Given the description of an element on the screen output the (x, y) to click on. 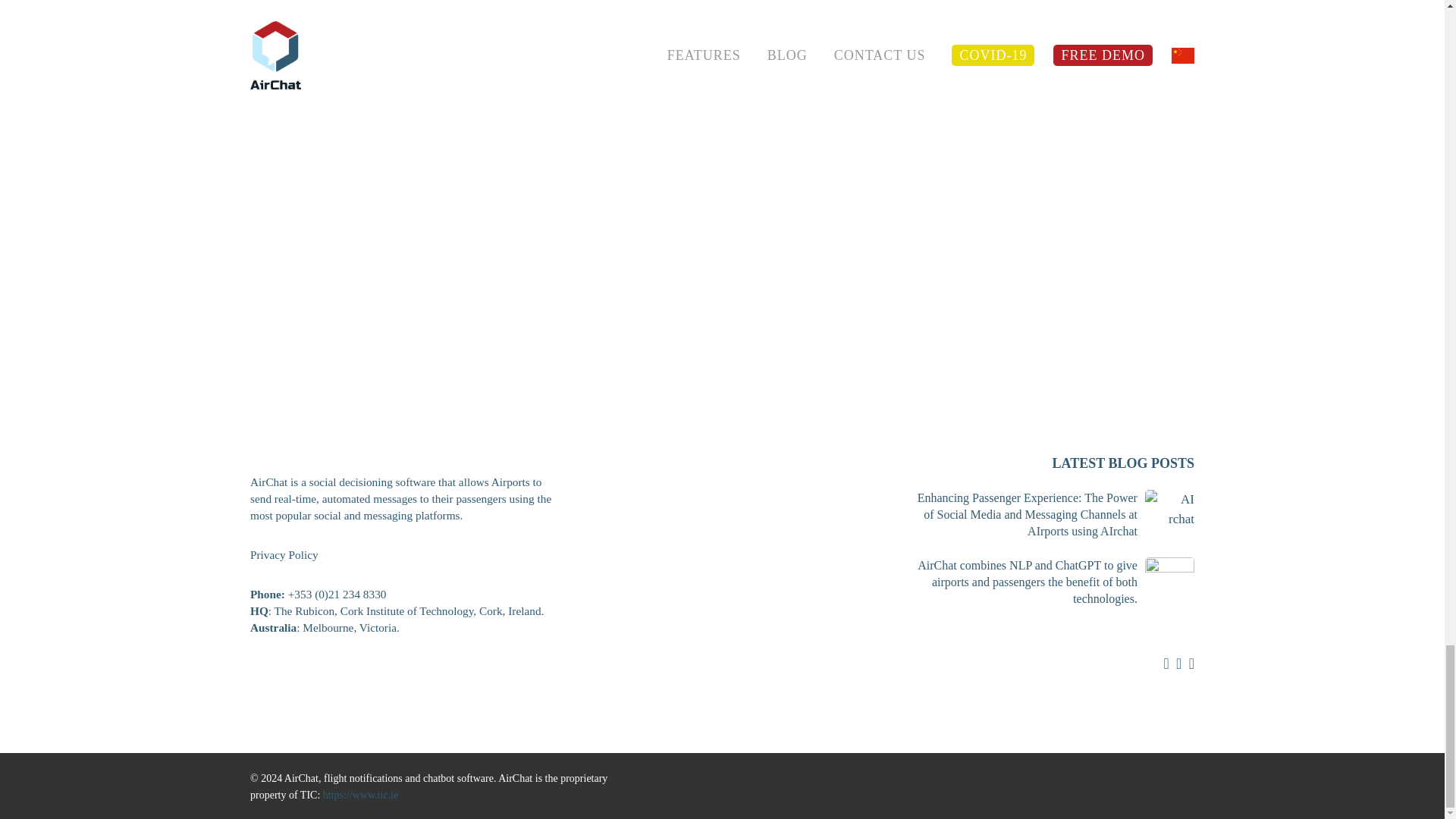
Privacy Policy (284, 554)
